Given the description of an element on the screen output the (x, y) to click on. 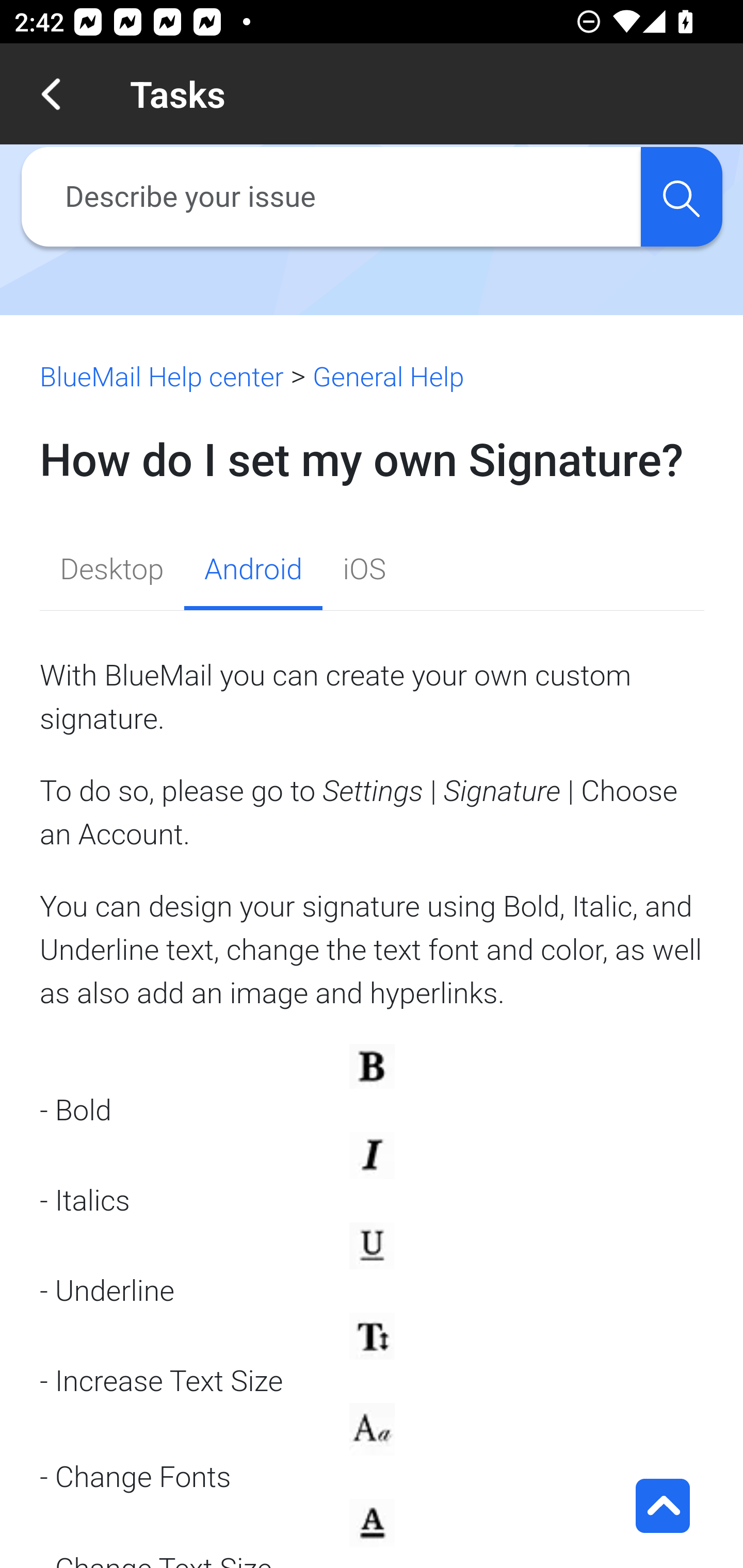
Navigate up (50, 93)
search (680, 196)
BlueMail Help center BlueMail  Help center (162, 376)
General Help (387, 376)
Desktop (112, 571)
Android (252, 571)
iOS (364, 571)
